Given the description of an element on the screen output the (x, y) to click on. 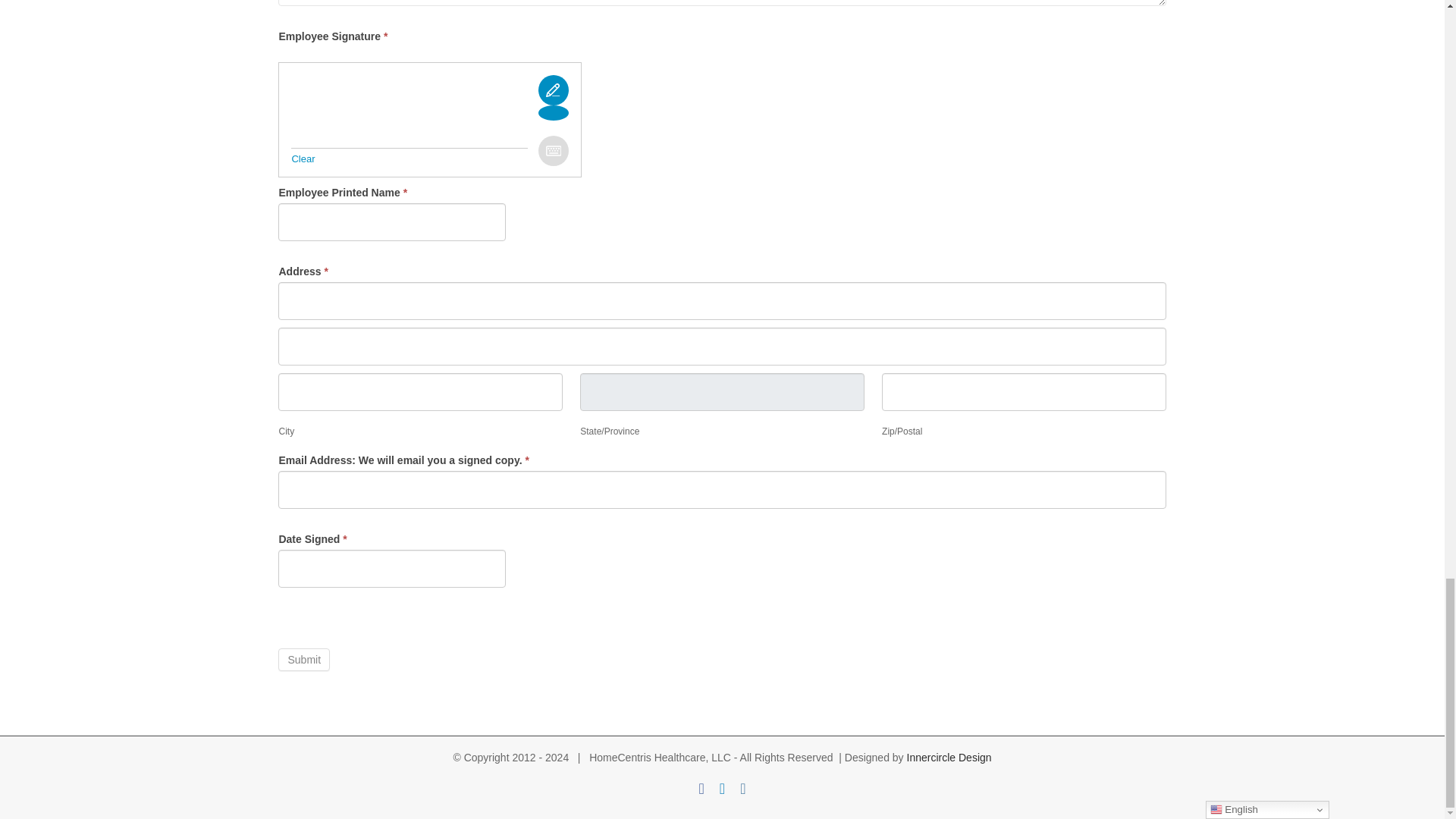
Clear (302, 158)
Draw It (553, 112)
Submit (304, 659)
Draw It (553, 90)
Innercircle Design (949, 757)
Type It (553, 150)
